Given the description of an element on the screen output the (x, y) to click on. 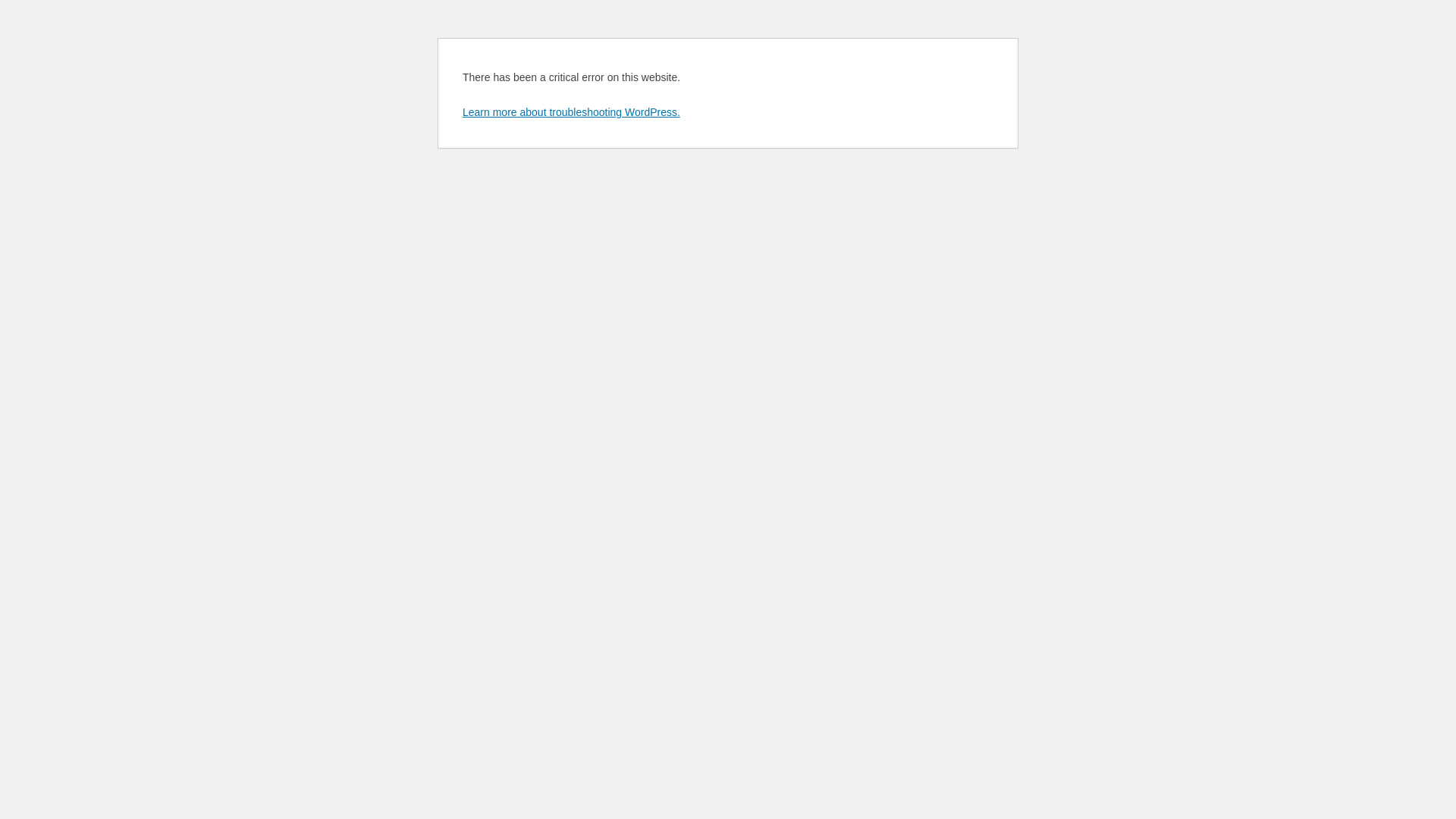
Learn more about troubleshooting WordPress. Element type: text (571, 112)
